Given the description of an element on the screen output the (x, y) to click on. 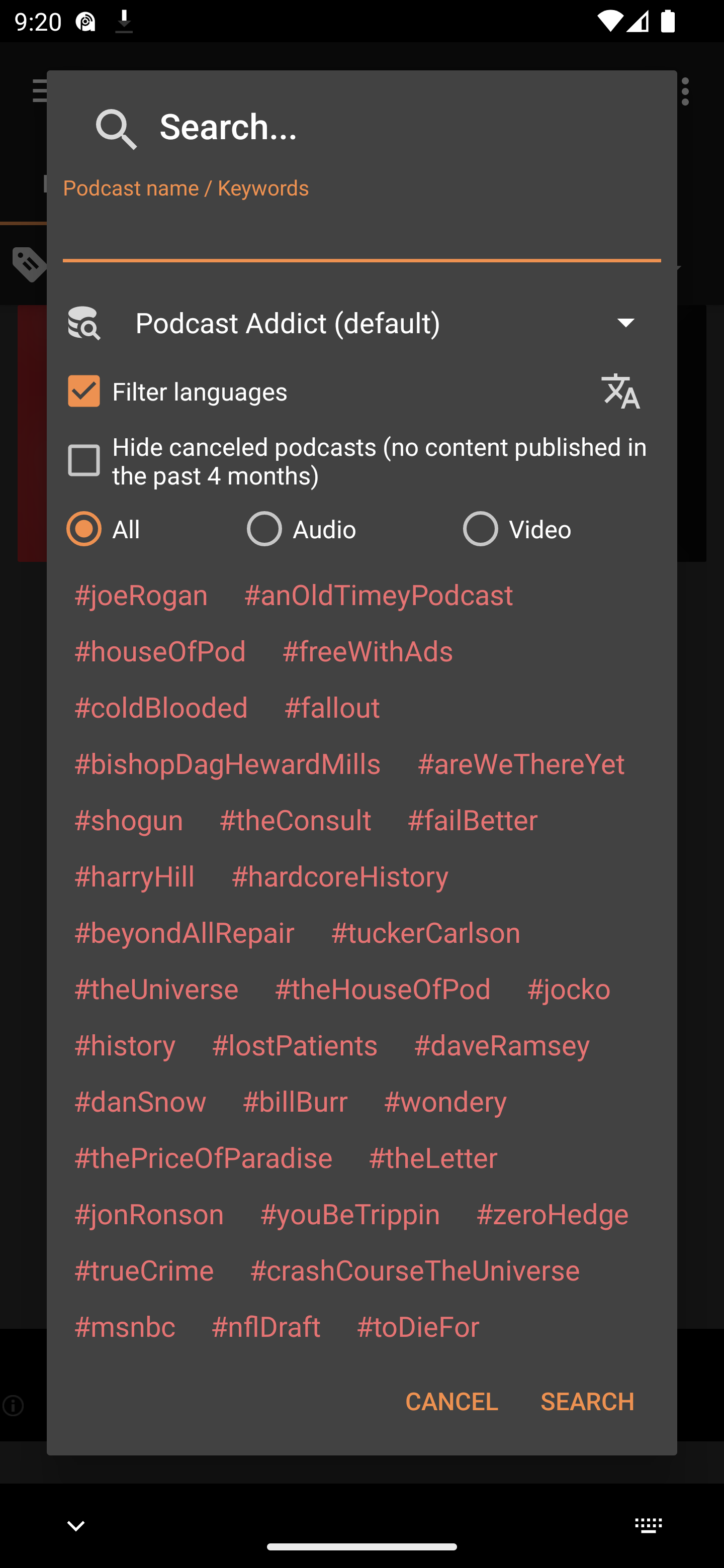
Podcast name / Keywords (361, 234)
Search Engine (82, 322)
Podcast Addict (default) (394, 322)
Languages selection (629, 390)
Filter languages (322, 390)
All (145, 528)
Audio (344, 528)
Video (560, 528)
#joeRogan (140, 594)
#anOldTimeyPodcast (378, 594)
#houseOfPod (159, 650)
#freeWithAds (367, 650)
#coldBlooded (160, 705)
#fallout (331, 705)
#bishopDagHewardMills (227, 762)
#areWeThereYet (521, 762)
#shogun (128, 818)
#theConsult (294, 818)
#failBetter (471, 818)
#harryHill (134, 875)
#hardcoreHistory (339, 875)
#beyondAllRepair (184, 931)
#tuckerCarlson (425, 931)
#theUniverse (155, 987)
#theHouseOfPod (381, 987)
#jocko (568, 987)
#history (124, 1044)
#lostPatients (294, 1044)
#daveRamsey (501, 1044)
#danSnow (139, 1100)
#billBurr (294, 1100)
#wondery (444, 1100)
#thePriceOfParadise (203, 1157)
#theLetter (432, 1157)
#jonRonson (148, 1213)
#youBeTrippin (349, 1213)
#zeroHedge (552, 1213)
#trueCrime (143, 1268)
#crashCourseTheUniverse (414, 1268)
#msnbc (124, 1325)
#nflDraft (265, 1325)
#toDieFor (417, 1325)
CANCEL (451, 1400)
SEARCH (587, 1400)
